Given the description of an element on the screen output the (x, y) to click on. 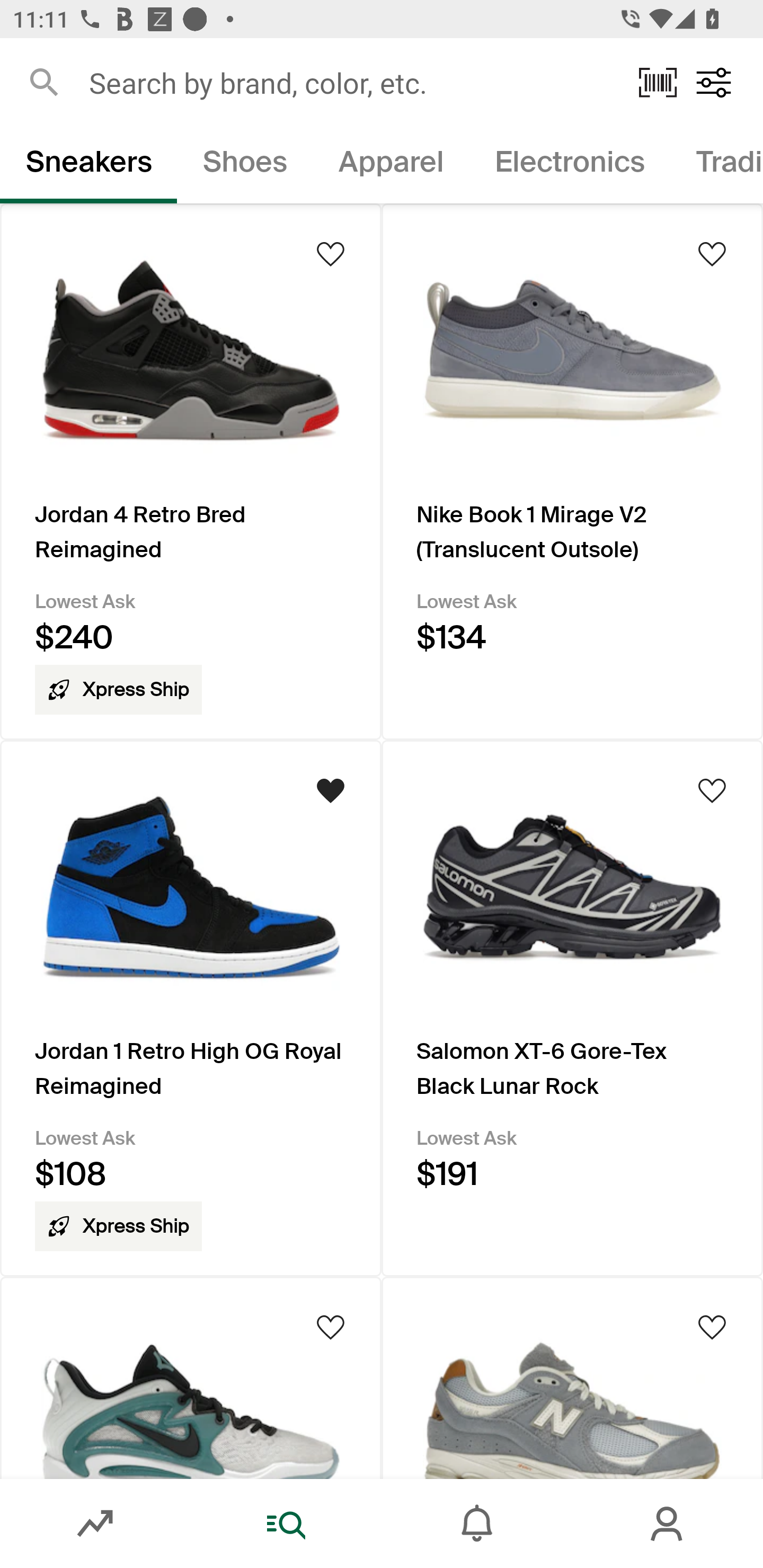
Search by brand, color, etc. (351, 82)
Shoes (244, 165)
Apparel (390, 165)
Electronics (569, 165)
Product Image (190, 1377)
Product Image (572, 1377)
Market (95, 1523)
Inbox (476, 1523)
Account (667, 1523)
